Given the description of an element on the screen output the (x, y) to click on. 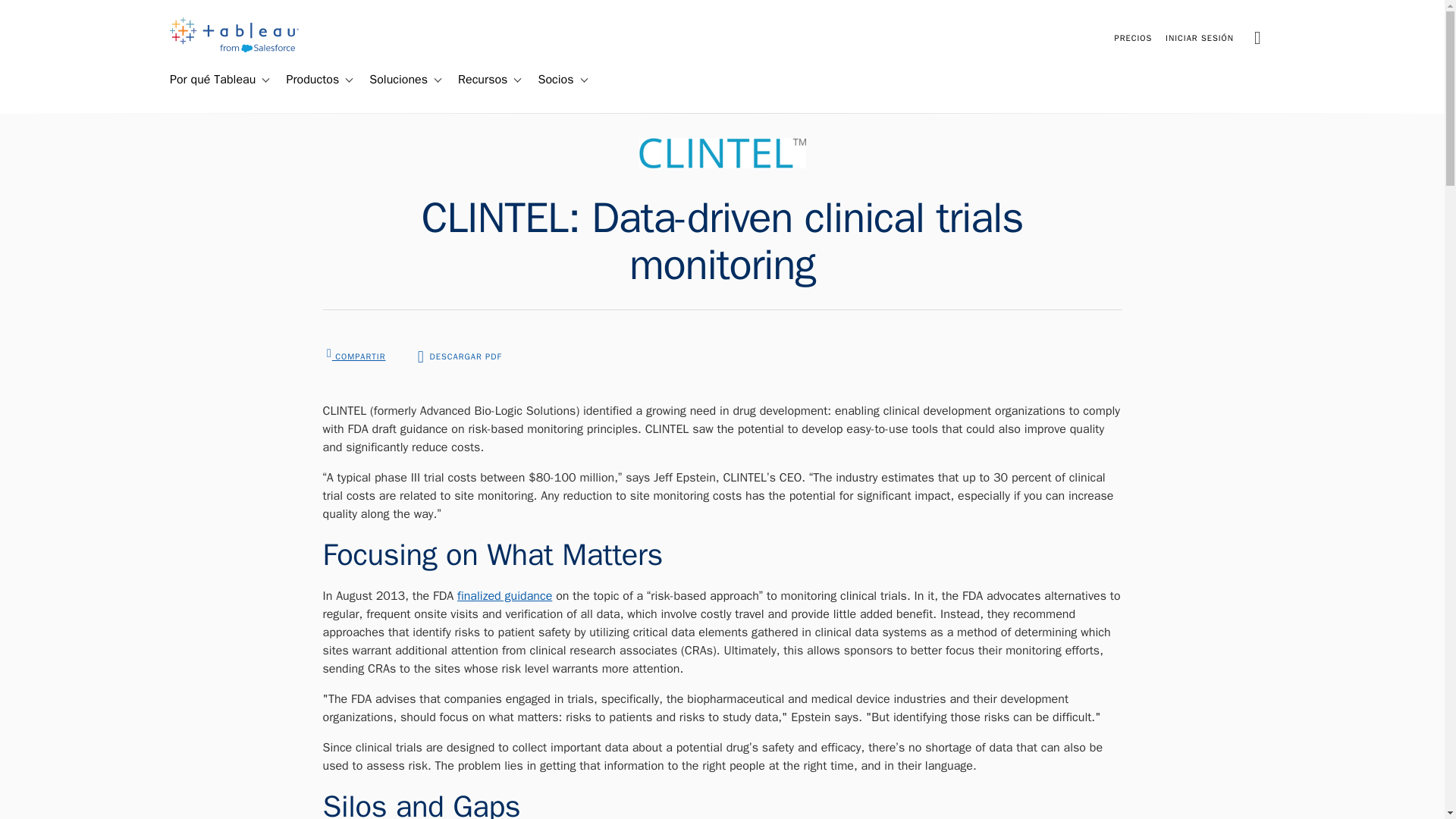
Productos (306, 79)
Soluciones (392, 79)
